Given the description of an element on the screen output the (x, y) to click on. 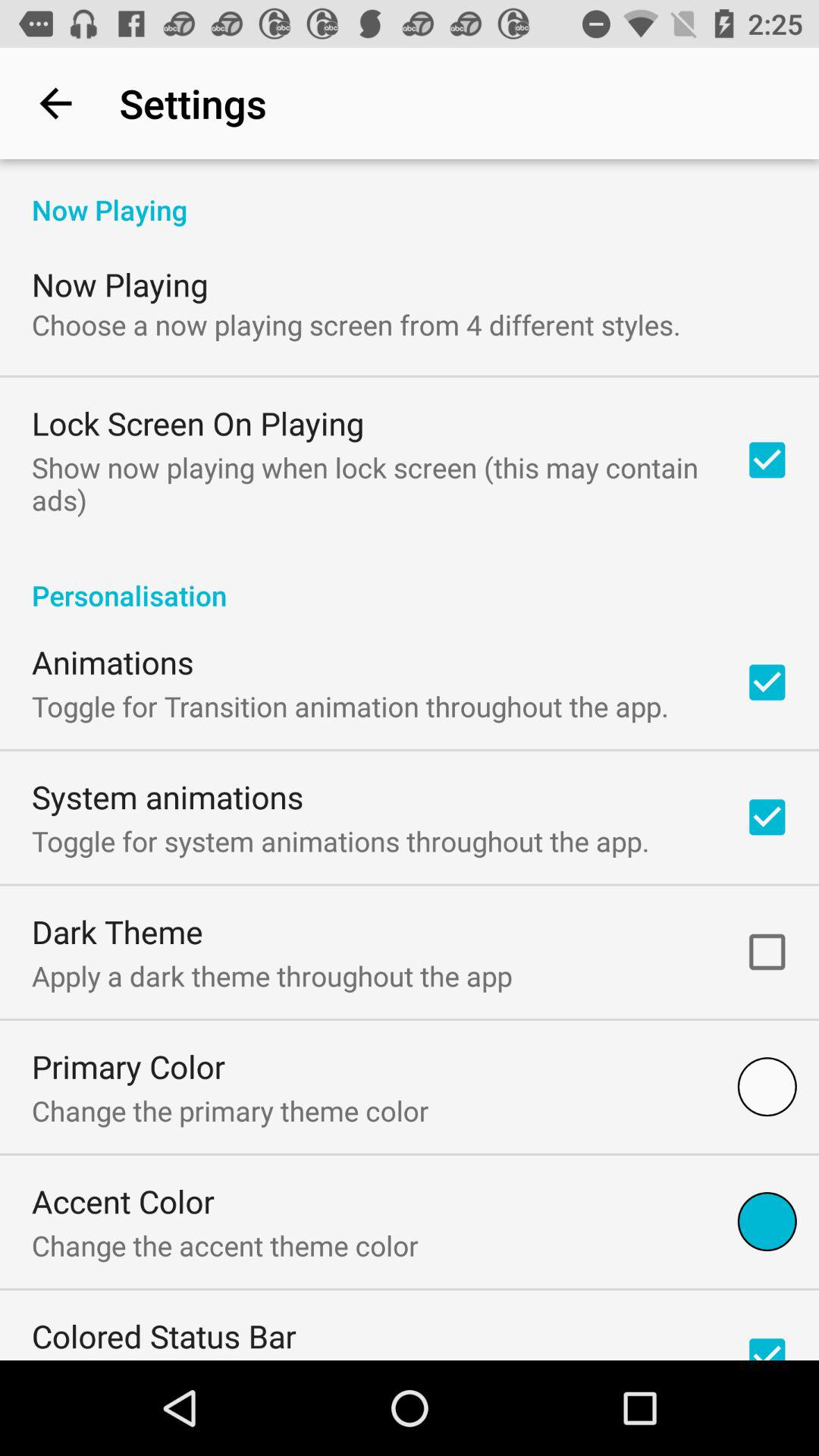
choose the icon below the now playing (355, 324)
